Given the description of an element on the screen output the (x, y) to click on. 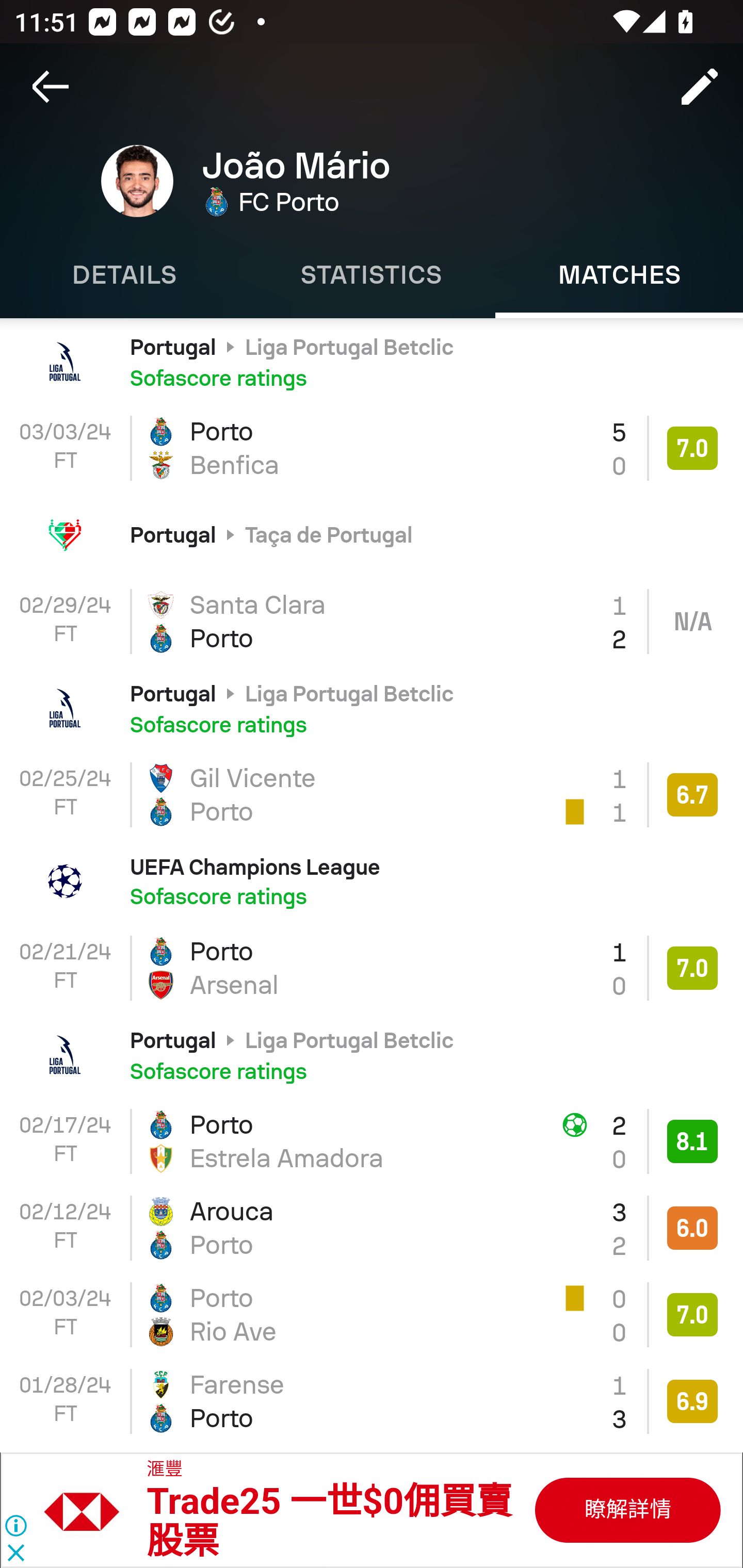
Navigate up (50, 86)
Edit (699, 86)
Details DETAILS (123, 275)
Statistics STATISTICS (371, 275)
Portugal Liga Portugal Betclic Sofascore ratings (371, 361)
03/03/24 FT Porto 5 Benfica 0 7.0 (371, 447)
7.0 (692, 448)
Portugal Taça de Portugal (371, 534)
02/29/24 FT Santa Clara 1 Porto 2 N/A (371, 621)
N/A (692, 621)
Portugal Liga Portugal Betclic Sofascore ratings (371, 707)
02/25/24 FT Gil Vicente 1 Porto 1 6.7 (371, 794)
6.7 (692, 794)
UEFA Champions League Sofascore ratings (371, 881)
02/21/24 FT Porto 1 Arsenal 0 7.0 (371, 968)
7.0 (692, 968)
Portugal Liga Portugal Betclic Sofascore ratings (371, 1054)
02/17/24 FT Porto 2 Estrela Amadora 0 8.1 (371, 1141)
8.1 (692, 1141)
02/12/24 FT Arouca 3 Porto 2 6.0 (371, 1228)
6.0 (692, 1227)
02/03/24 FT Porto 0 Rio Ave 0 7.0 (371, 1314)
7.0 (692, 1314)
01/28/24 FT Farense 1 Porto 3 6.9 (371, 1400)
6.9 (692, 1401)
B31525787 (92, 1509)
B31525787 (626, 1509)
Trade25 一世$0佣買賣 股票 Trade25 一世$0佣買賣 股票 (328, 1521)
